Given the description of an element on the screen output the (x, y) to click on. 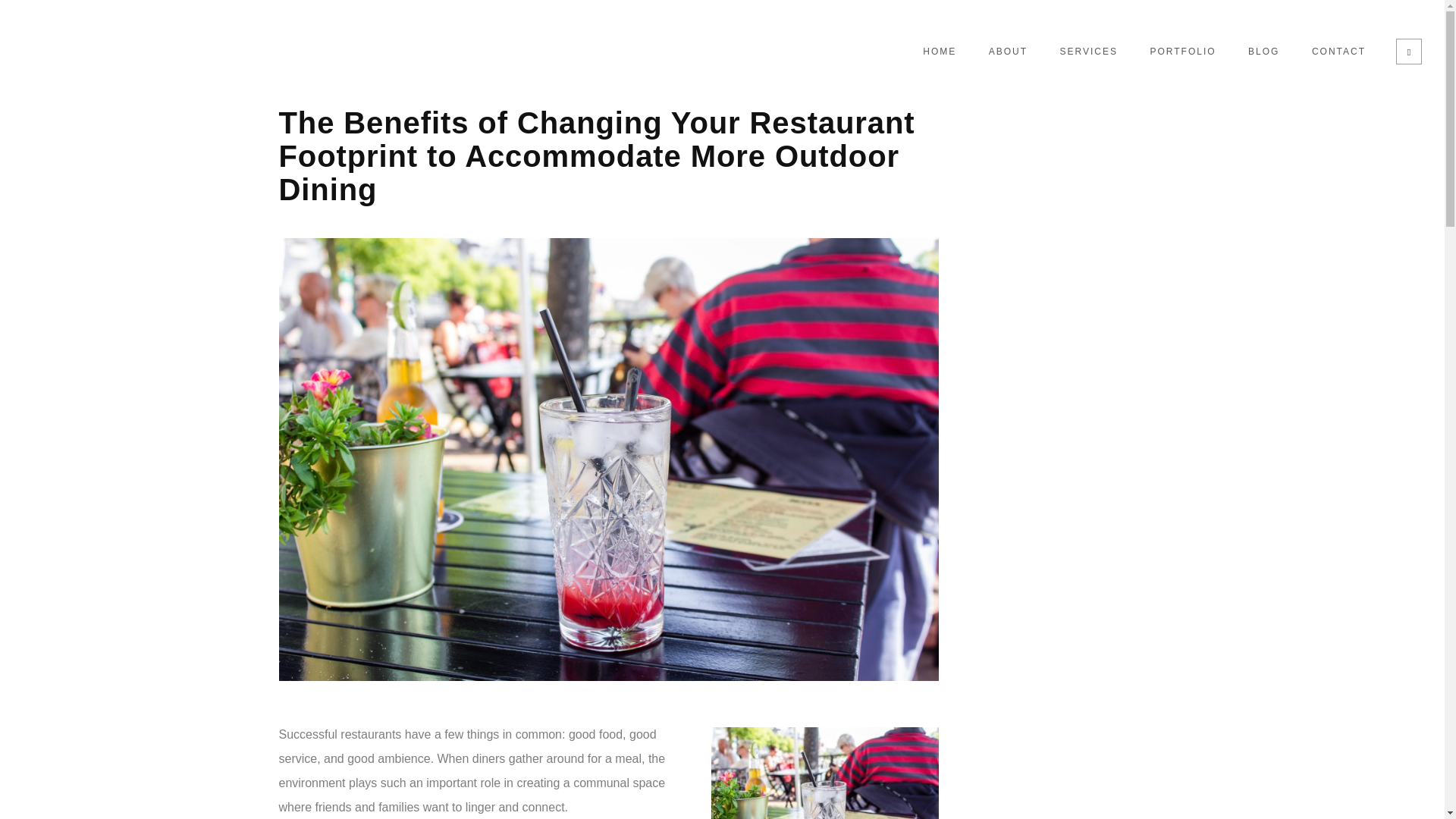
PORTFOLIO (1182, 51)
SERVICES (1088, 51)
CONTACT (1338, 51)
HOME (939, 51)
ABOUT (1007, 51)
BLOG (1263, 51)
